Given the description of an element on the screen output the (x, y) to click on. 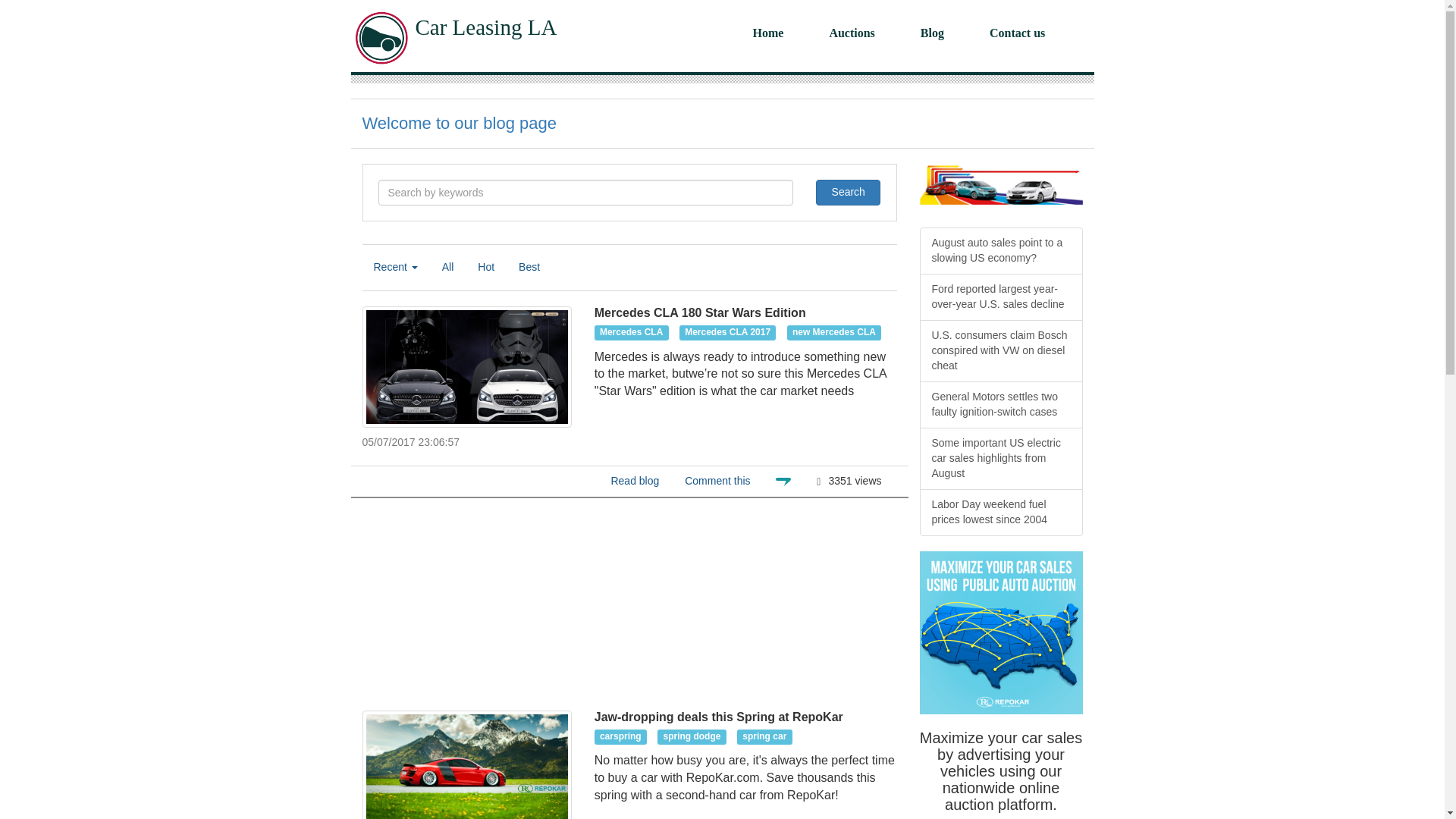
Hot (485, 267)
All (447, 267)
spring dodge (691, 736)
Car Leasing LA (485, 27)
Mercedes CLA (631, 332)
carspring (620, 736)
Best (528, 267)
Read blog (634, 480)
Mercedes CLA 2017 (727, 332)
Comment this (716, 480)
Recent (395, 267)
